Given the description of an element on the screen output the (x, y) to click on. 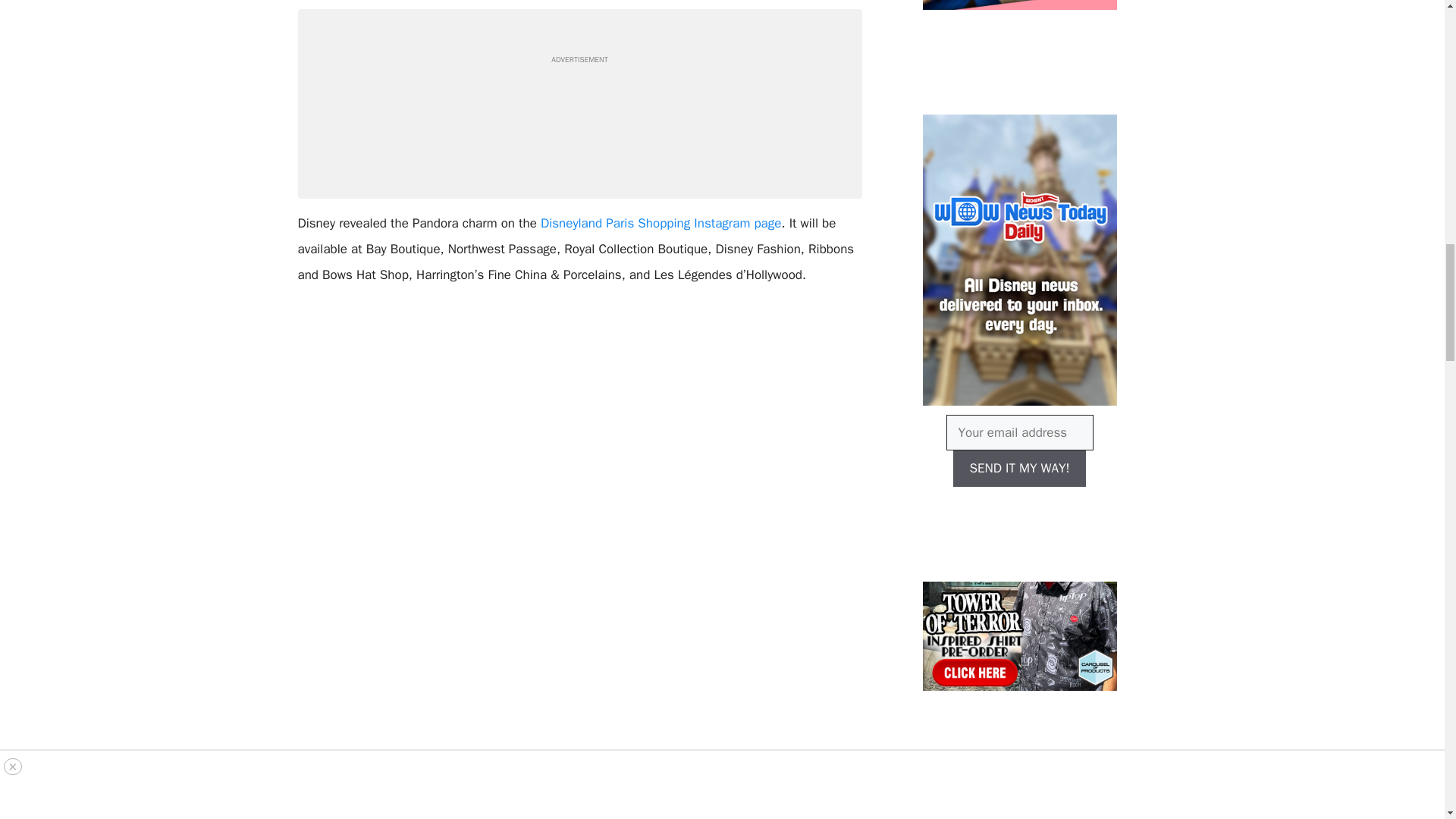
SEND IT MY WAY! (1018, 468)
